Given the description of an element on the screen output the (x, y) to click on. 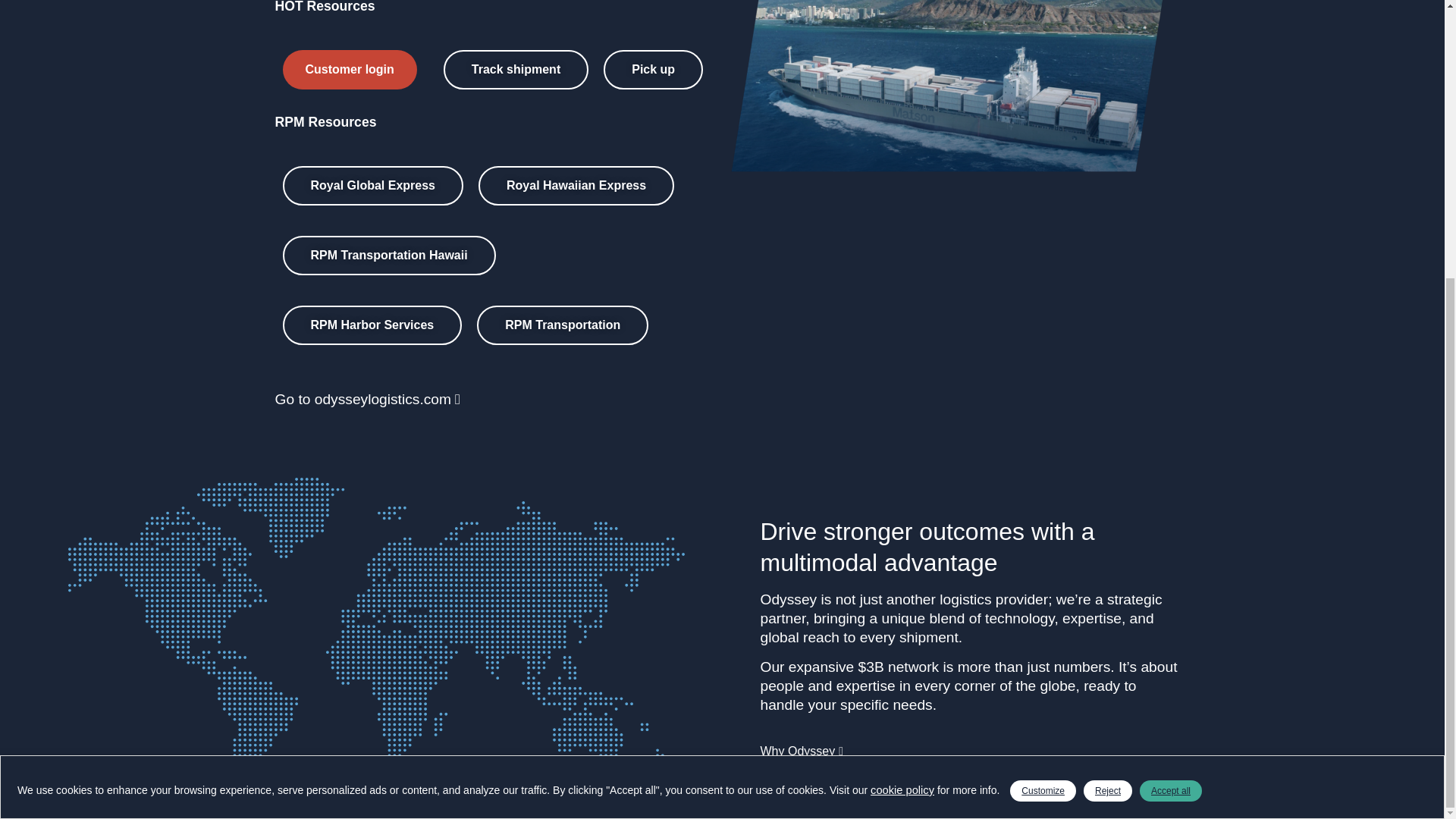
Royal Global Express (372, 185)
RPM Harbor Services (371, 324)
Customer login (349, 69)
Go to odysseylogistics.com (371, 399)
RPM Transportation Hawaii (388, 255)
Royal Hawaiian Express (576, 185)
Track shipment (516, 69)
Pick up (653, 69)
Why Odyssey (805, 750)
RPM Transportation (562, 324)
